Given the description of an element on the screen output the (x, y) to click on. 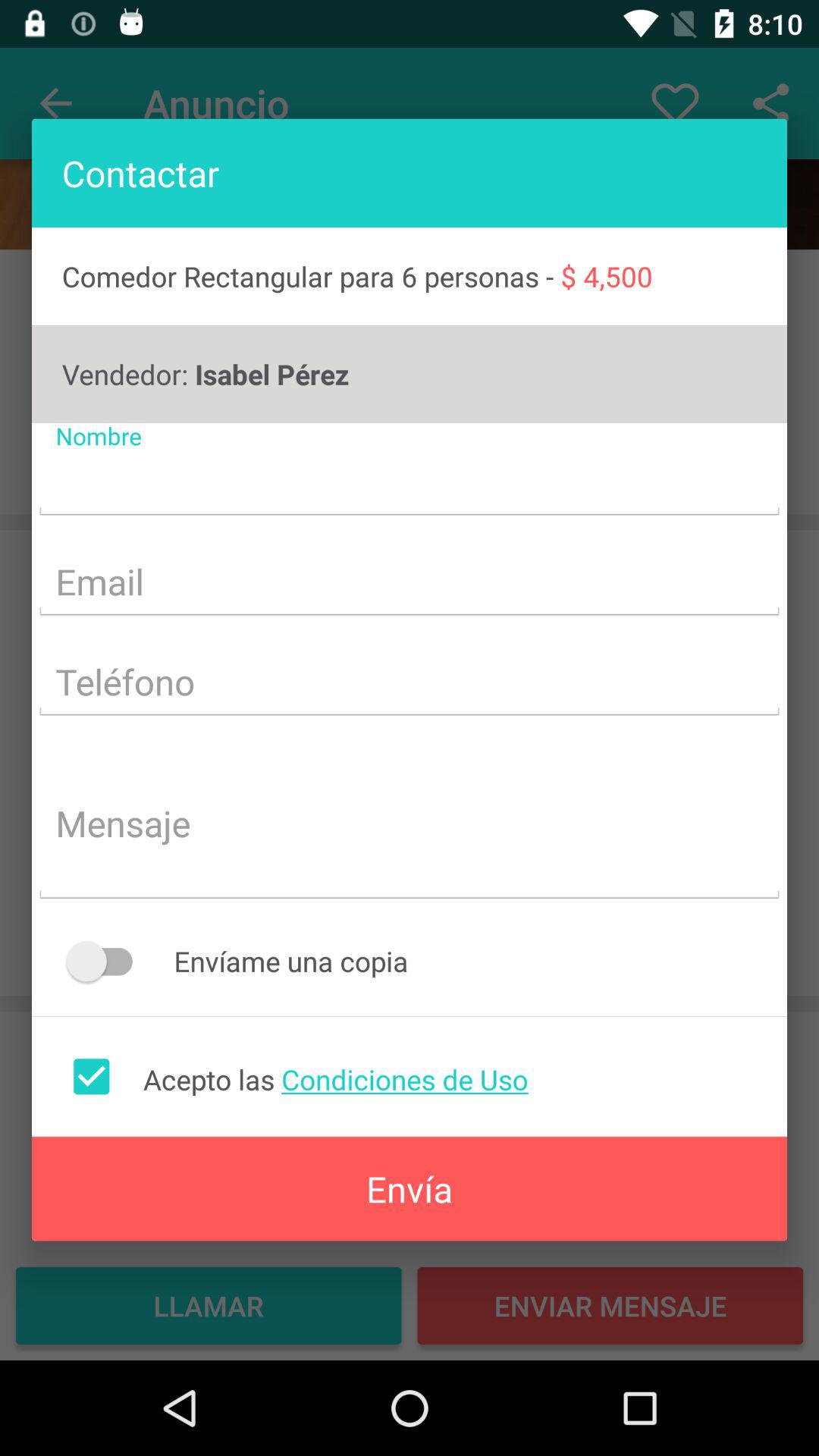
accept the condition (91, 1076)
